Given the description of an element on the screen output the (x, y) to click on. 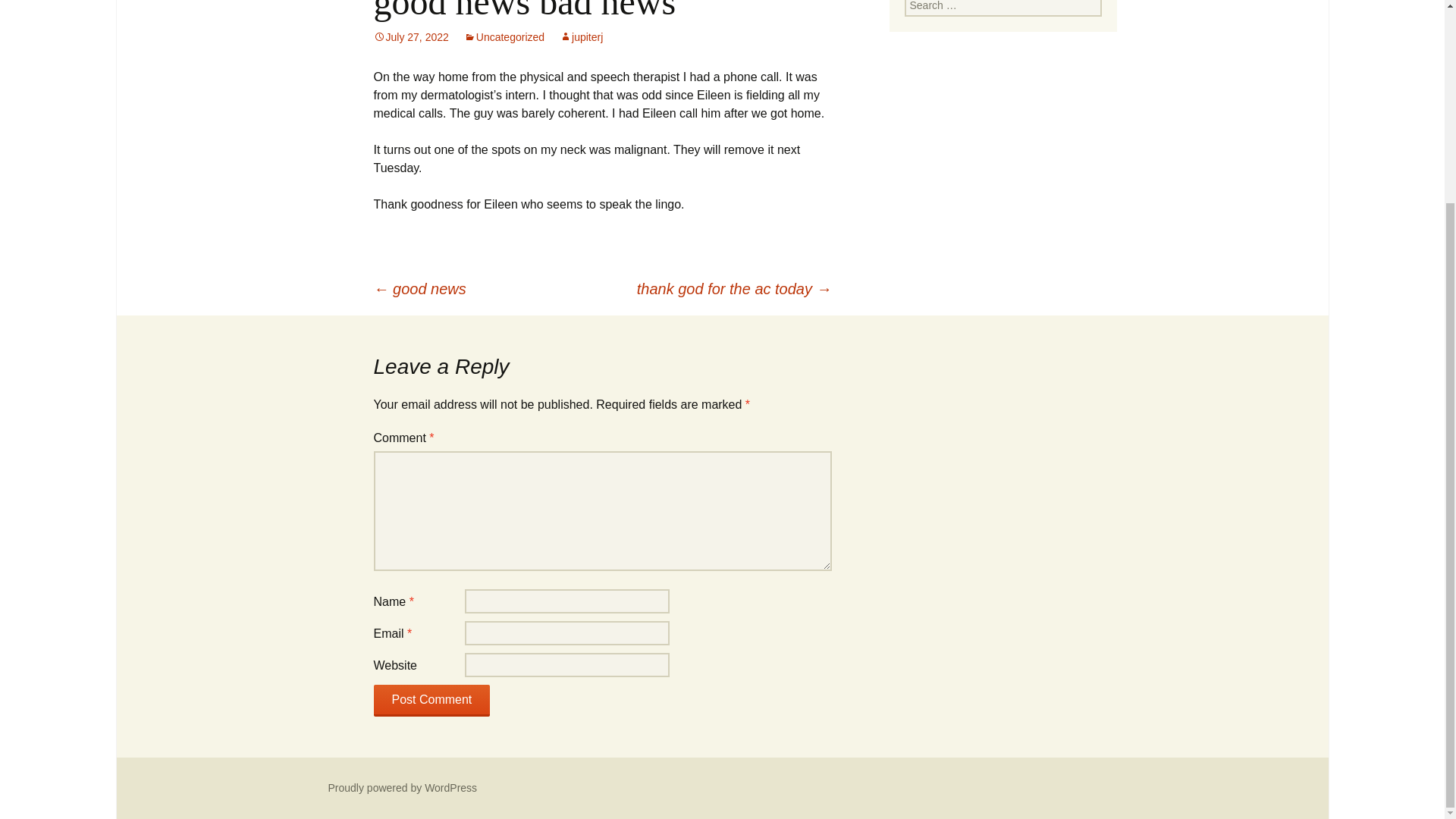
Permalink to good news bad news (410, 37)
Uncategorized (504, 37)
jupiterj (580, 37)
July 27, 2022 (410, 37)
Proudly powered by WordPress (402, 787)
Post Comment (430, 700)
View all posts by jupiterj (580, 37)
Post Comment (430, 700)
